Given the description of an element on the screen output the (x, y) to click on. 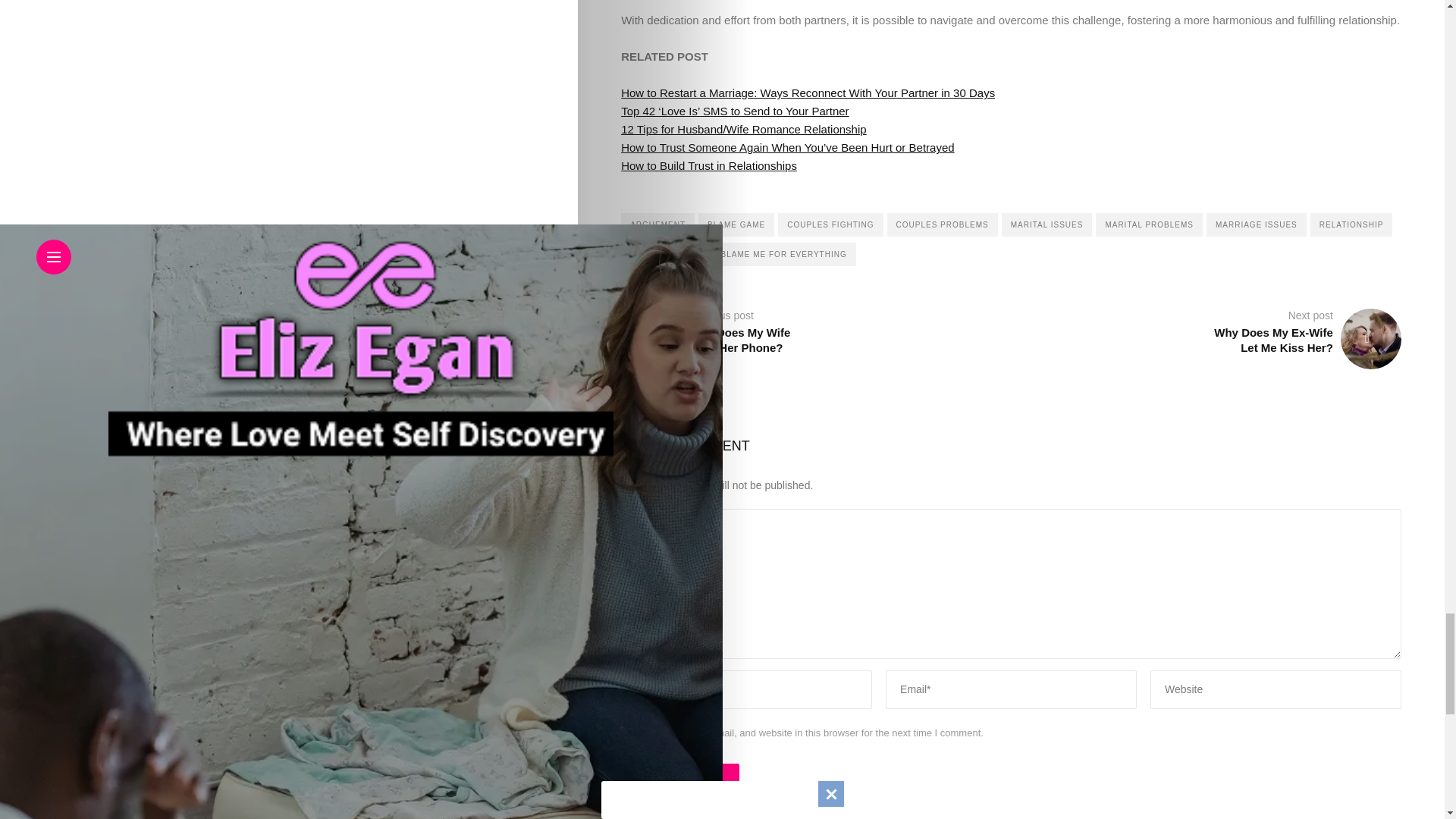
yes (627, 733)
ARGUEMENT (657, 224)
RELATIONSHIP (1351, 224)
BLAME GAME (736, 224)
COUPLES PROBLEMS (941, 224)
MARITAL ISSUES (1047, 224)
MARRIAGE ISSUES (1256, 224)
WHY DOES MY WIFE BLAME ME FOR EVERYTHING (738, 254)
MARITAL PROBLEMS (1149, 224)
How to Build Trust in Relationships (708, 164)
COUPLES FIGHTING (829, 224)
Post Comment (680, 778)
